Given the description of an element on the screen output the (x, y) to click on. 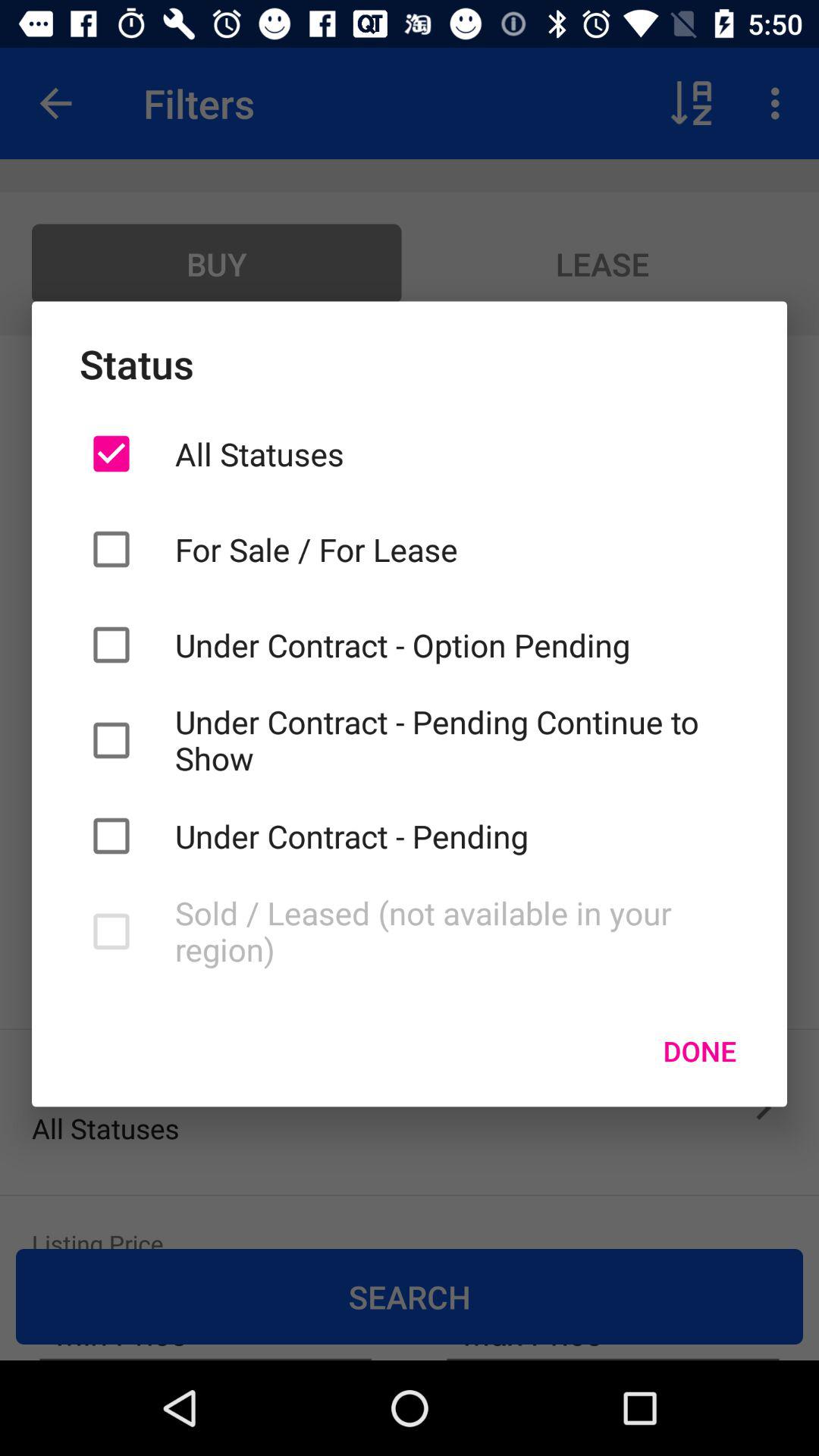
swipe until done item (699, 1050)
